Given the description of an element on the screen output the (x, y) to click on. 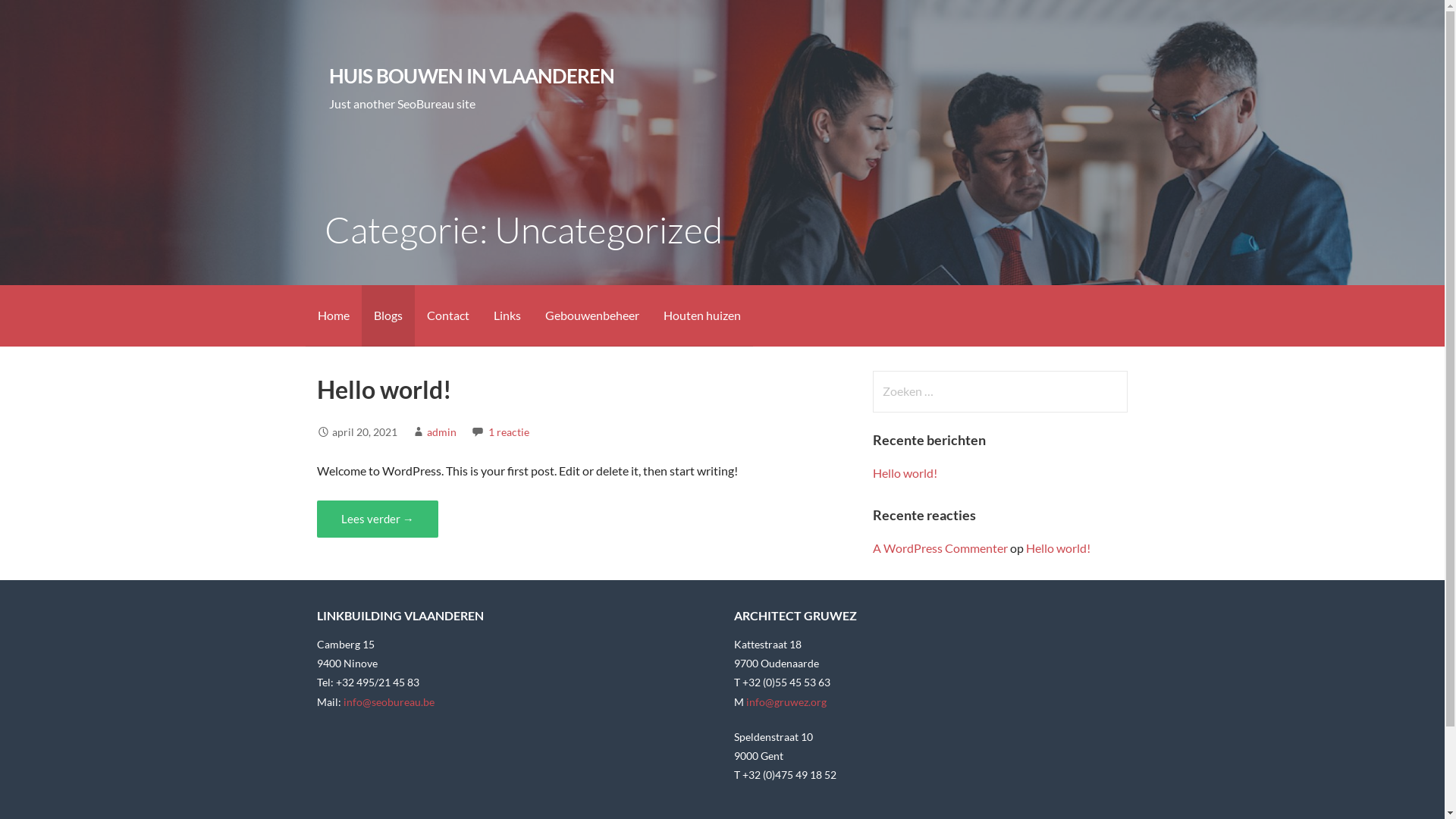
1 reactie Element type: text (508, 431)
info@gruwez.org Element type: text (786, 701)
Hello world! Element type: text (904, 472)
Home Element type: text (332, 315)
Gebouwenbeheer Element type: text (591, 315)
Hello world! Element type: text (1058, 547)
info@seobureau.be Element type: text (388, 701)
Houten huizen Element type: text (701, 315)
Links Element type: text (506, 315)
HUIS BOUWEN IN VLAANDEREN Element type: text (472, 75)
Blogs Element type: text (387, 315)
admin Element type: text (441, 431)
Zoeken Element type: text (42, 18)
Hello world! Element type: text (383, 389)
Contact Element type: text (447, 315)
A WordPress Commenter Element type: text (939, 547)
